Given the description of an element on the screen output the (x, y) to click on. 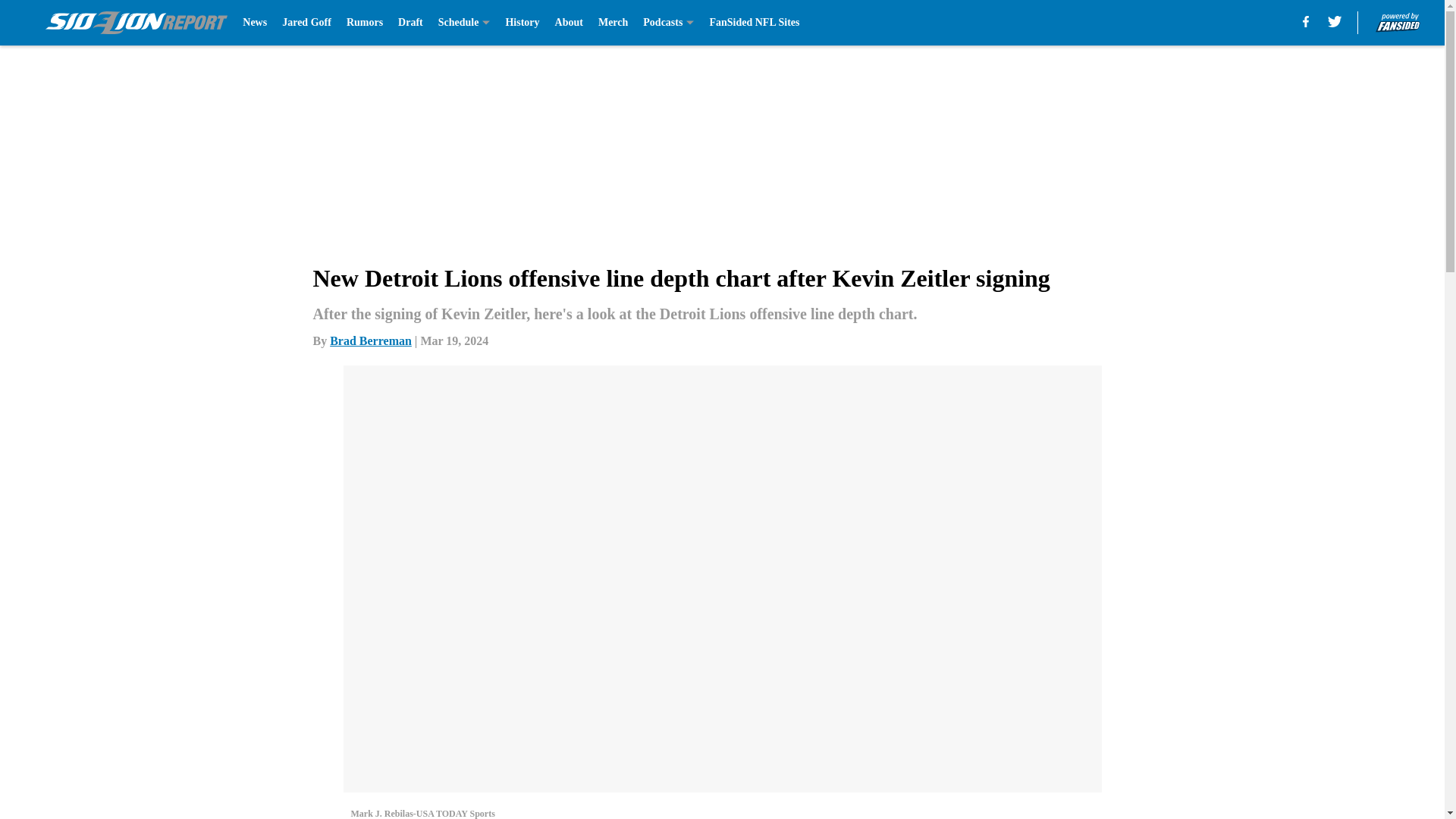
About (568, 22)
News (254, 22)
Rumors (364, 22)
Jared Goff (306, 22)
Brad Berreman (371, 340)
History (521, 22)
Merch (612, 22)
FanSided NFL Sites (754, 22)
Draft (410, 22)
